Given the description of an element on the screen output the (x, y) to click on. 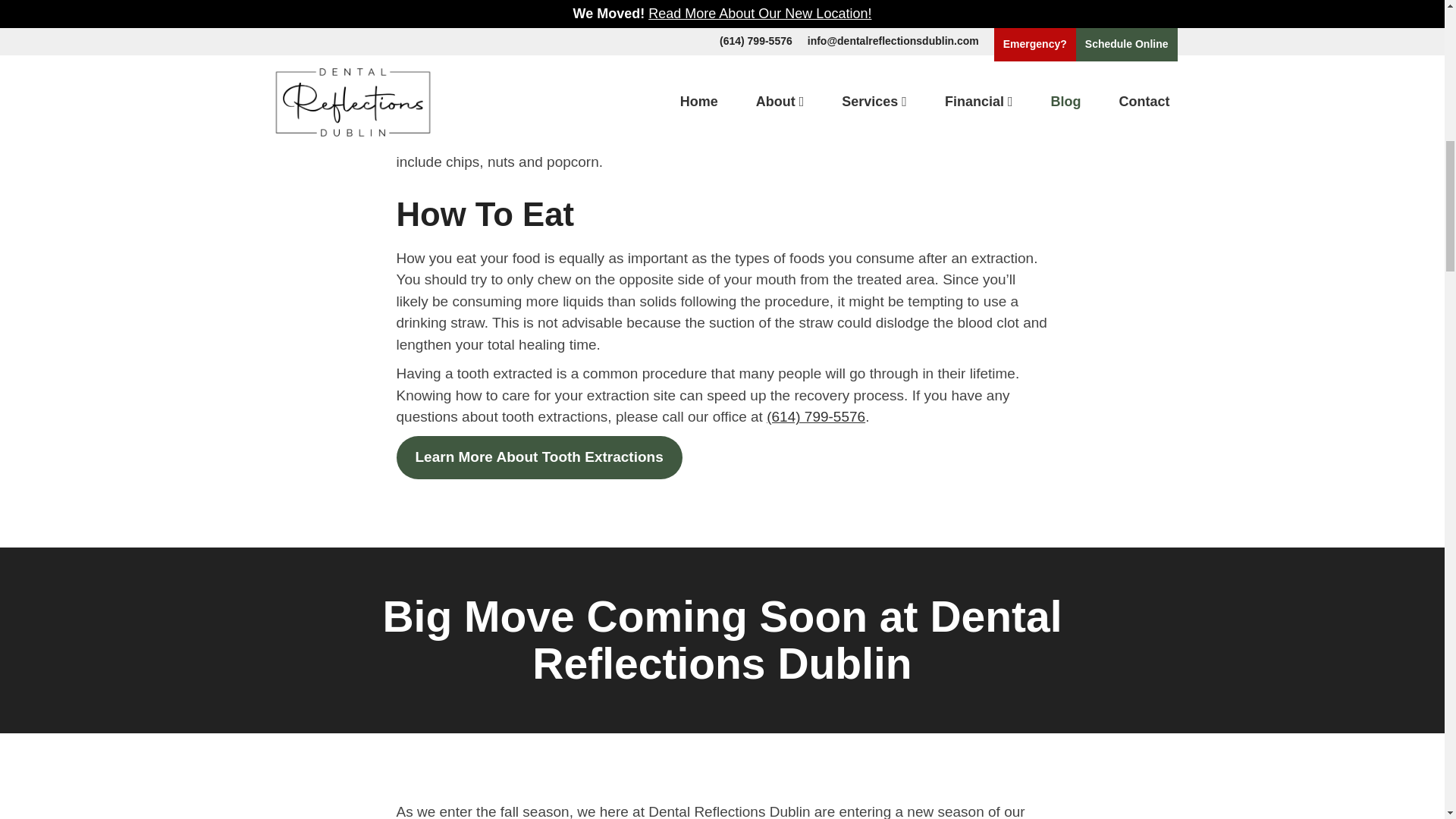
Learn More About Tooth Extractions (538, 457)
